Given the description of an element on the screen output the (x, y) to click on. 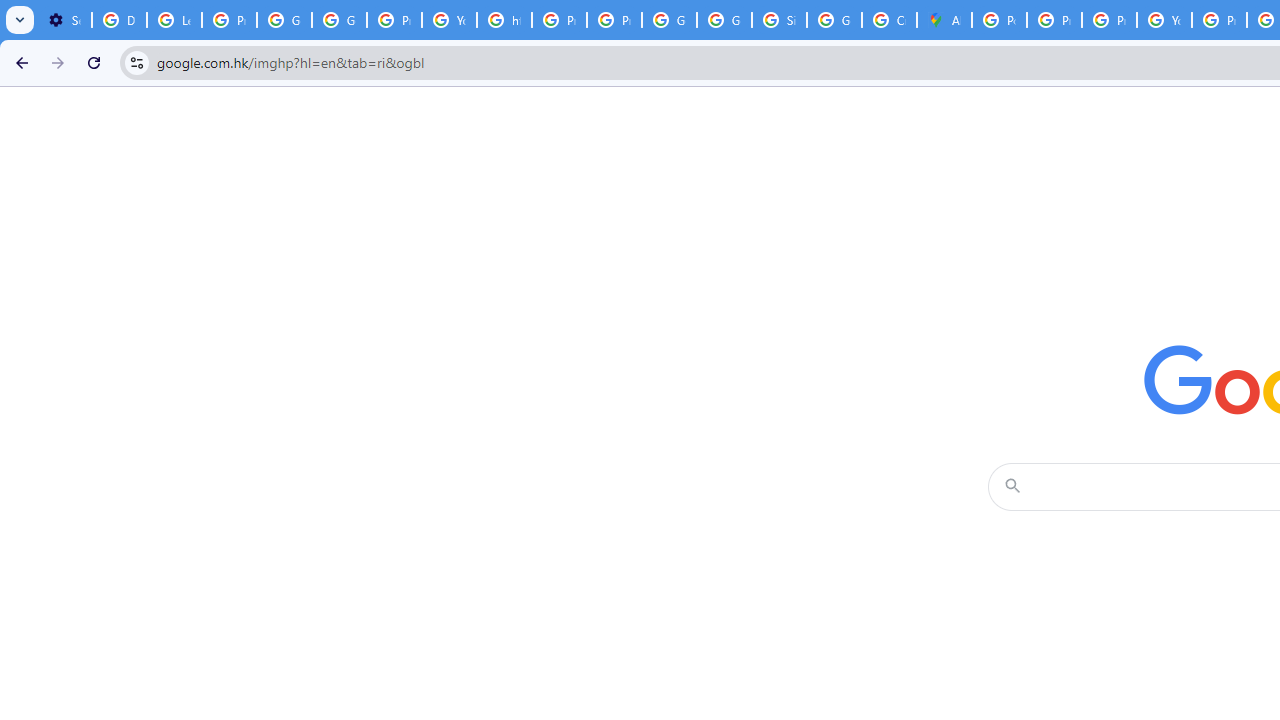
Privacy Help Center - Policies Help (1053, 20)
Create your Google Account (888, 20)
Policy Accountability and Transparency - Transparency Center (998, 20)
YouTube (449, 20)
Settings - On startup (64, 20)
